Given the description of an element on the screen output the (x, y) to click on. 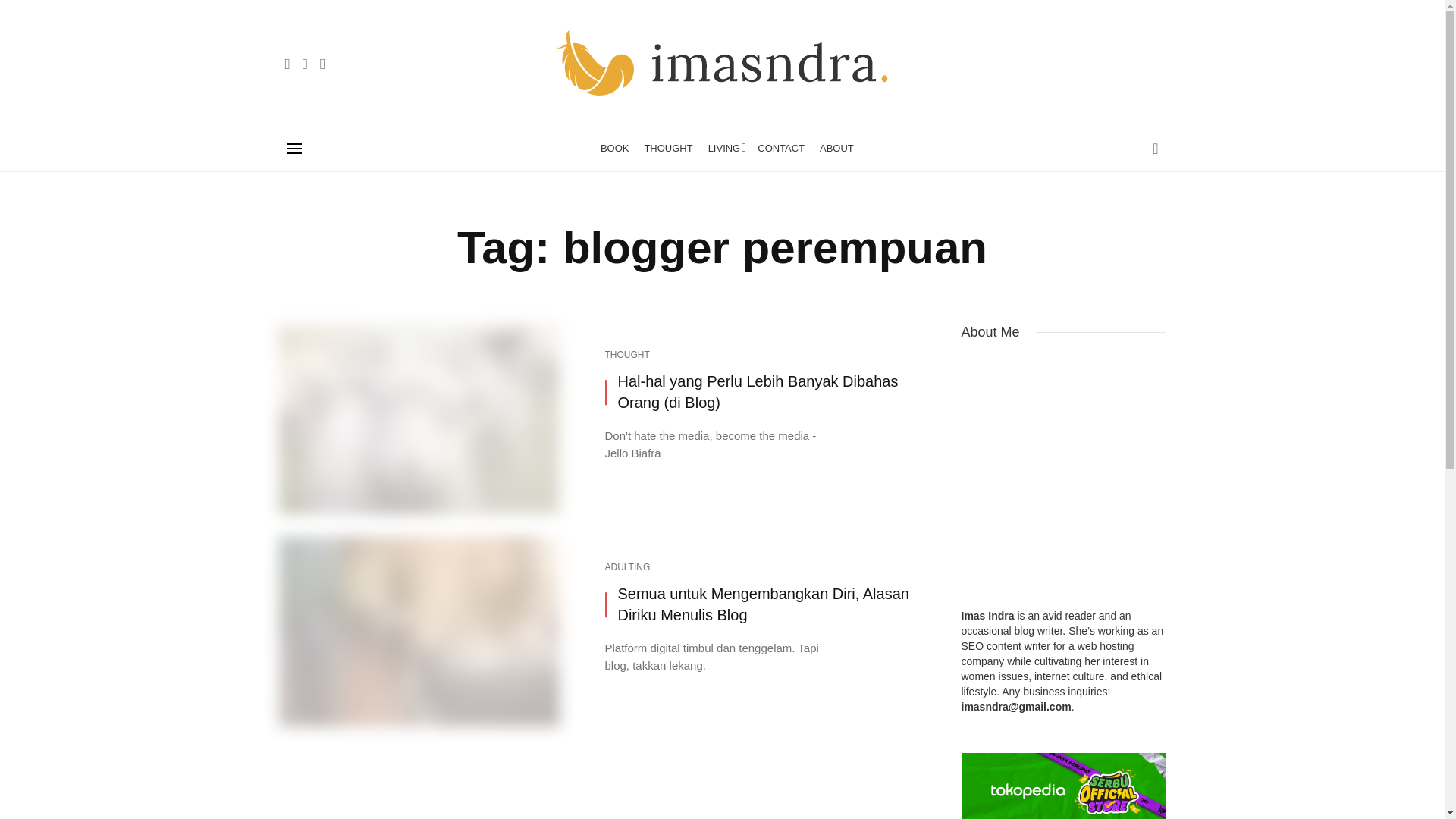
ABOUT (836, 148)
BOOK (614, 148)
LIVING (725, 148)
THOUGHT (668, 148)
CONTACT (780, 148)
ADULTING (627, 567)
THOUGHT (627, 354)
Semua untuk Mengembangkan Diri, Alasan Diriku Menulis Blog (770, 604)
